Given the description of an element on the screen output the (x, y) to click on. 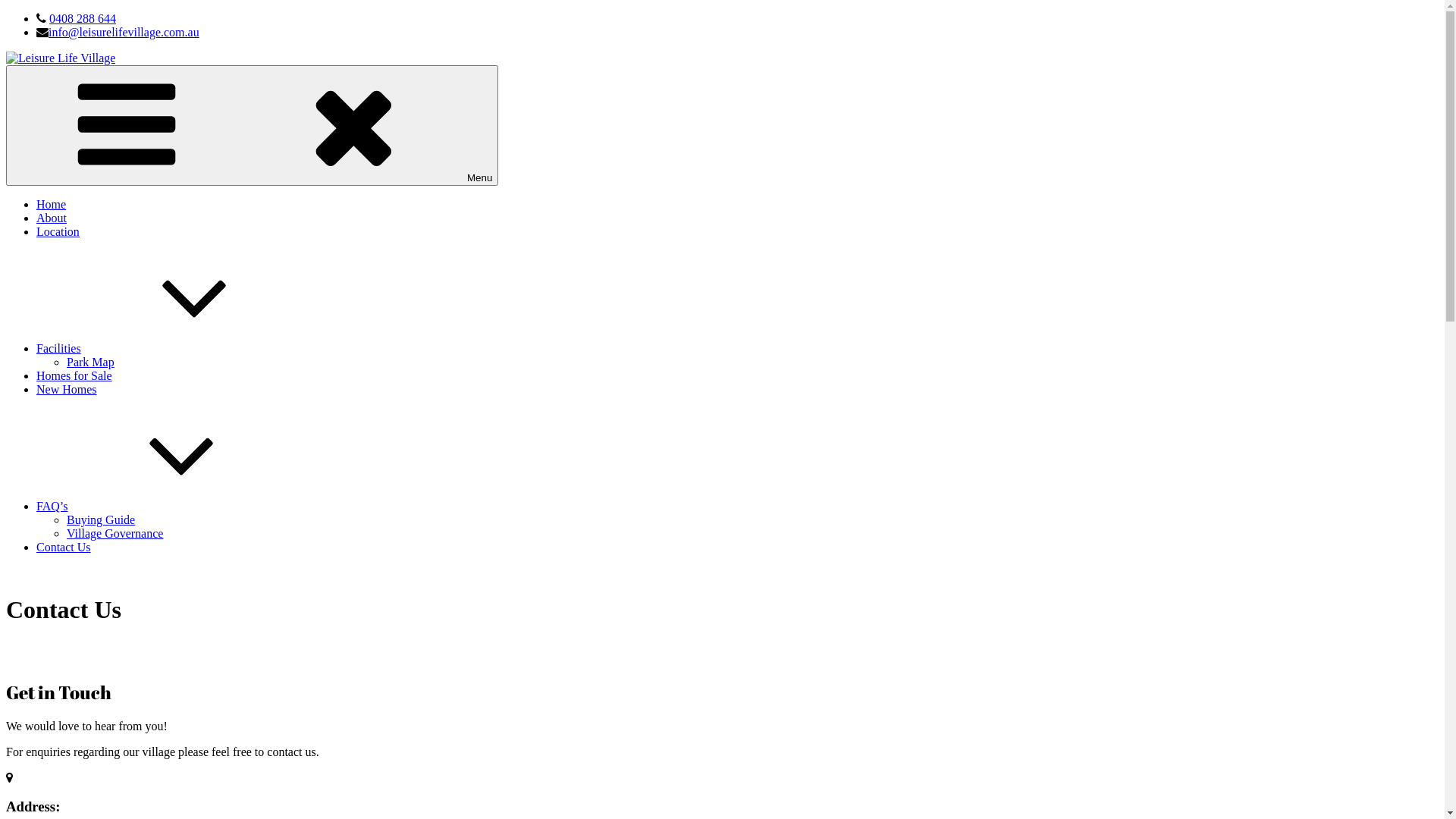
Menu Element type: text (252, 125)
About Element type: text (51, 217)
New Homes Element type: text (66, 388)
Village Governance Element type: text (114, 533)
Home Element type: text (50, 203)
Facilities Element type: text (172, 348)
info@leisurelifevillage.com.au Element type: text (123, 31)
Buying Guide Element type: text (100, 519)
0408 288 644 Element type: text (82, 18)
Park Map Element type: text (90, 361)
Contact Us Element type: text (63, 546)
Location Element type: text (57, 231)
Homes for Sale Element type: text (74, 375)
